Given the description of an element on the screen output the (x, y) to click on. 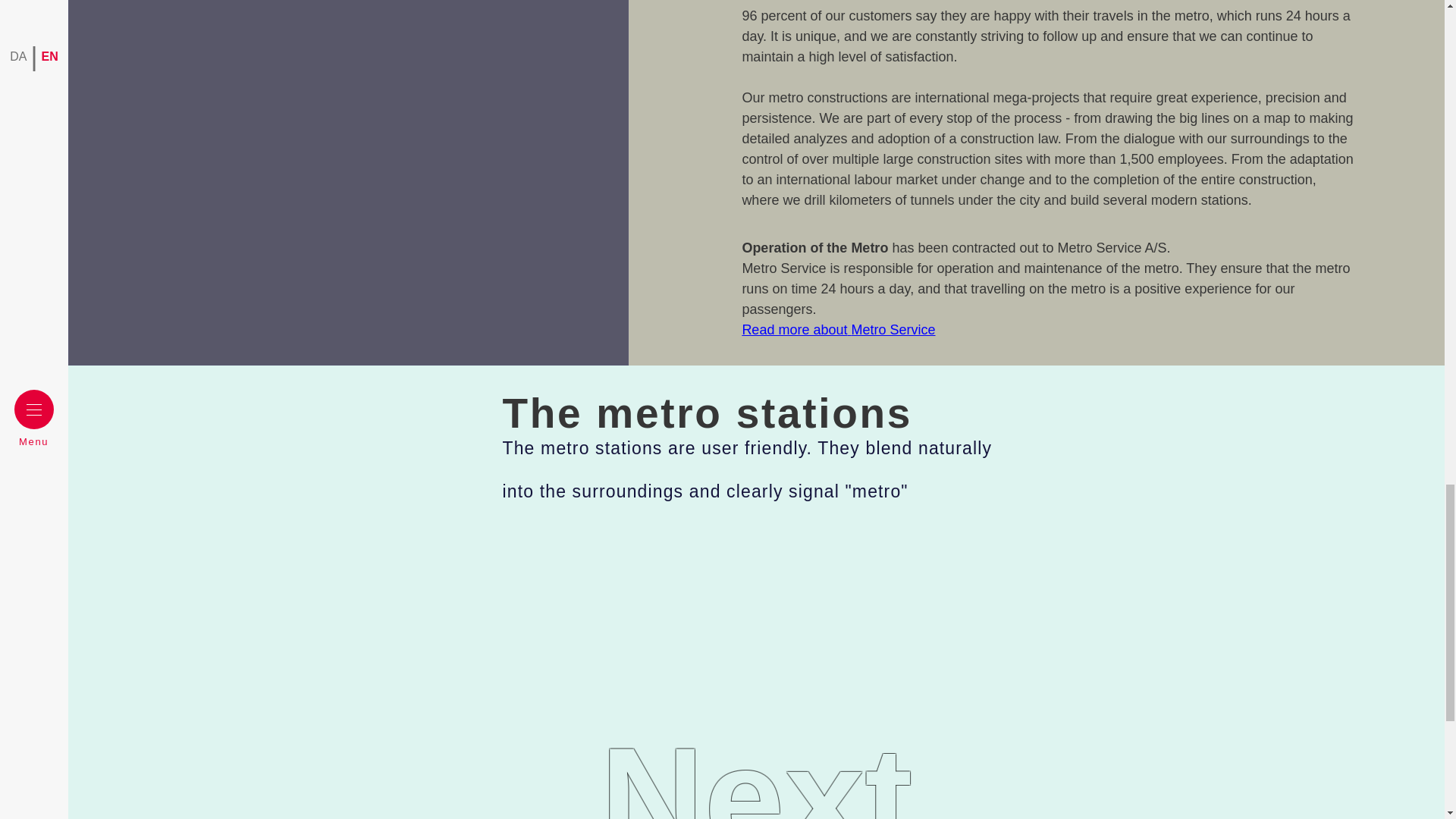
Read more about Metro Service (837, 329)
Metro Service (756, 778)
